Given the description of an element on the screen output the (x, y) to click on. 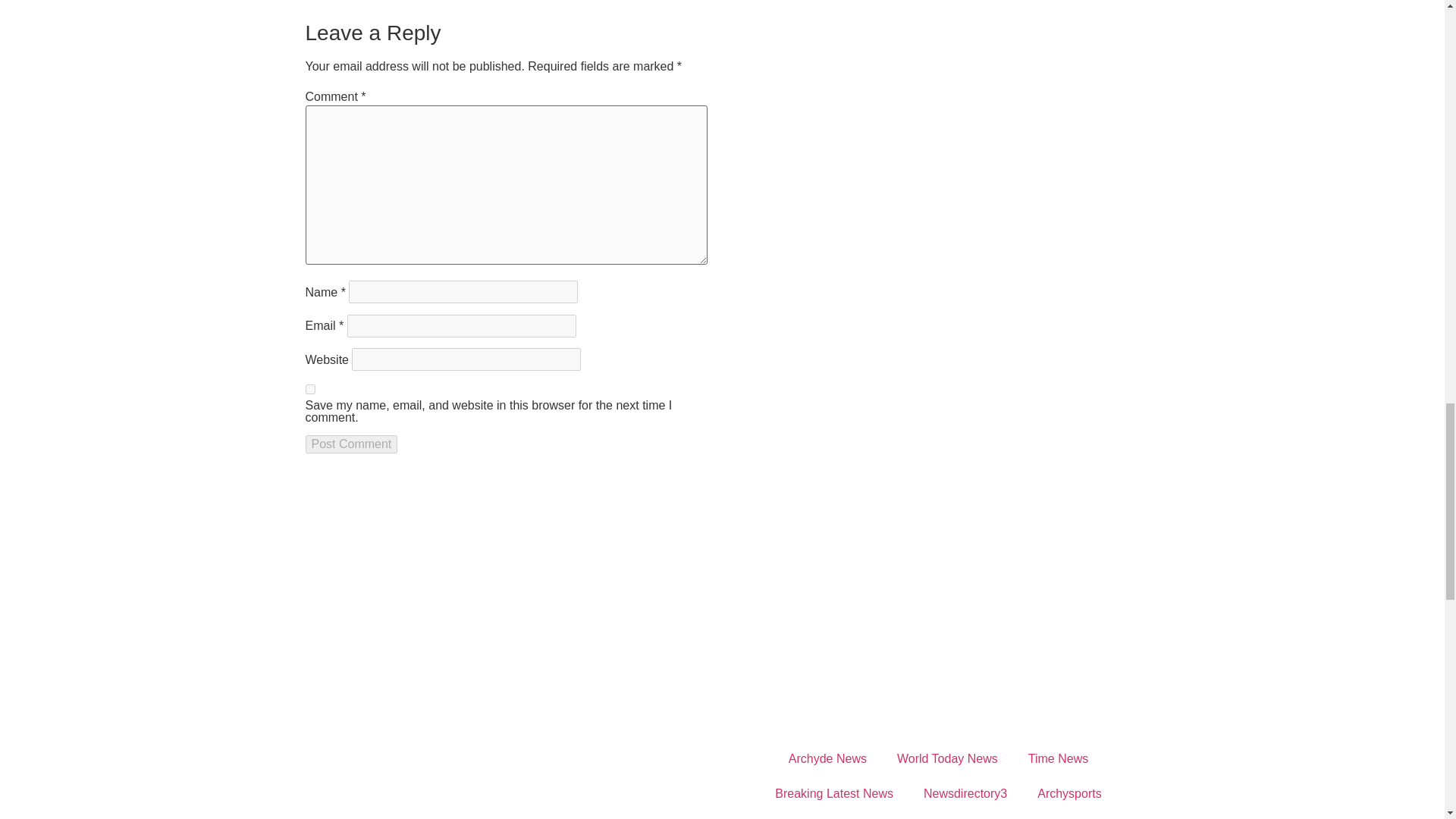
yes (309, 388)
Post Comment (350, 443)
